Given the description of an element on the screen output the (x, y) to click on. 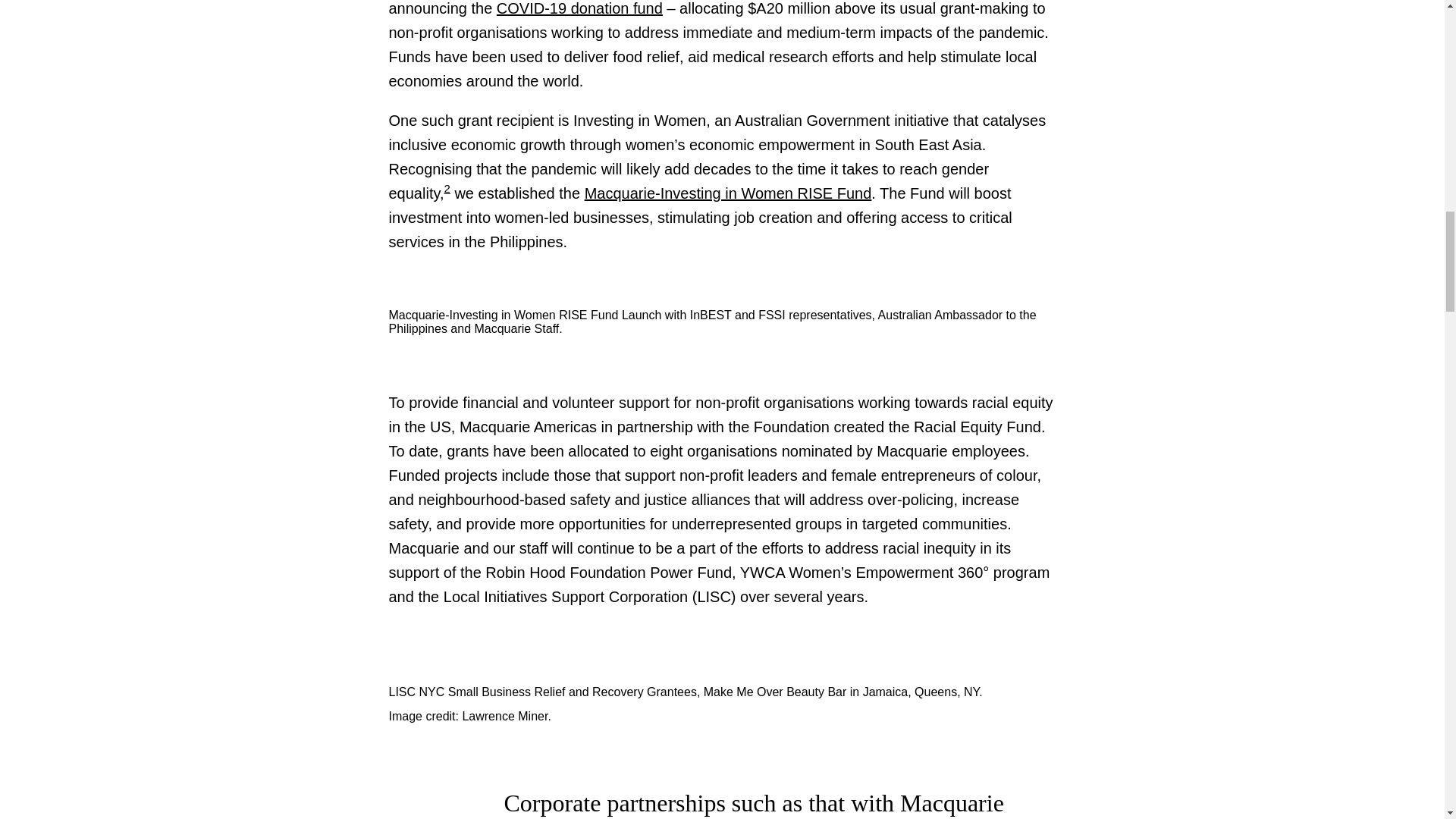
View website (728, 193)
